Given the description of an element on the screen output the (x, y) to click on. 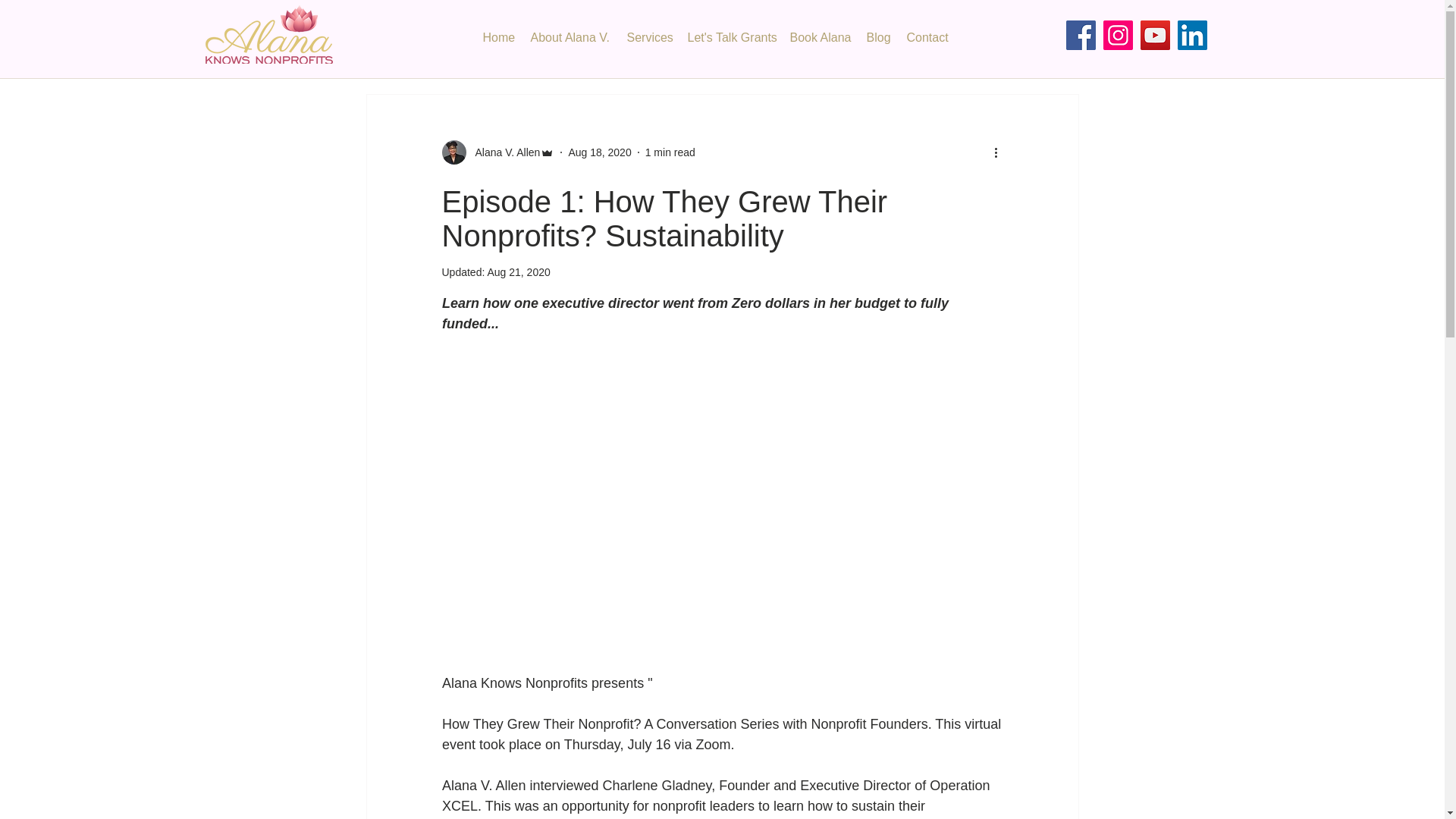
1 min read (670, 151)
Alana V. Allen (502, 151)
Home (504, 37)
Aug 21, 2020 (518, 272)
Services (655, 37)
ricos-video (722, 392)
Contact (933, 37)
About Alana V. (577, 37)
Book Alana (826, 37)
Blog (884, 37)
Aug 18, 2020 (598, 151)
Let's Talk Grants (736, 37)
